Given the description of an element on the screen output the (x, y) to click on. 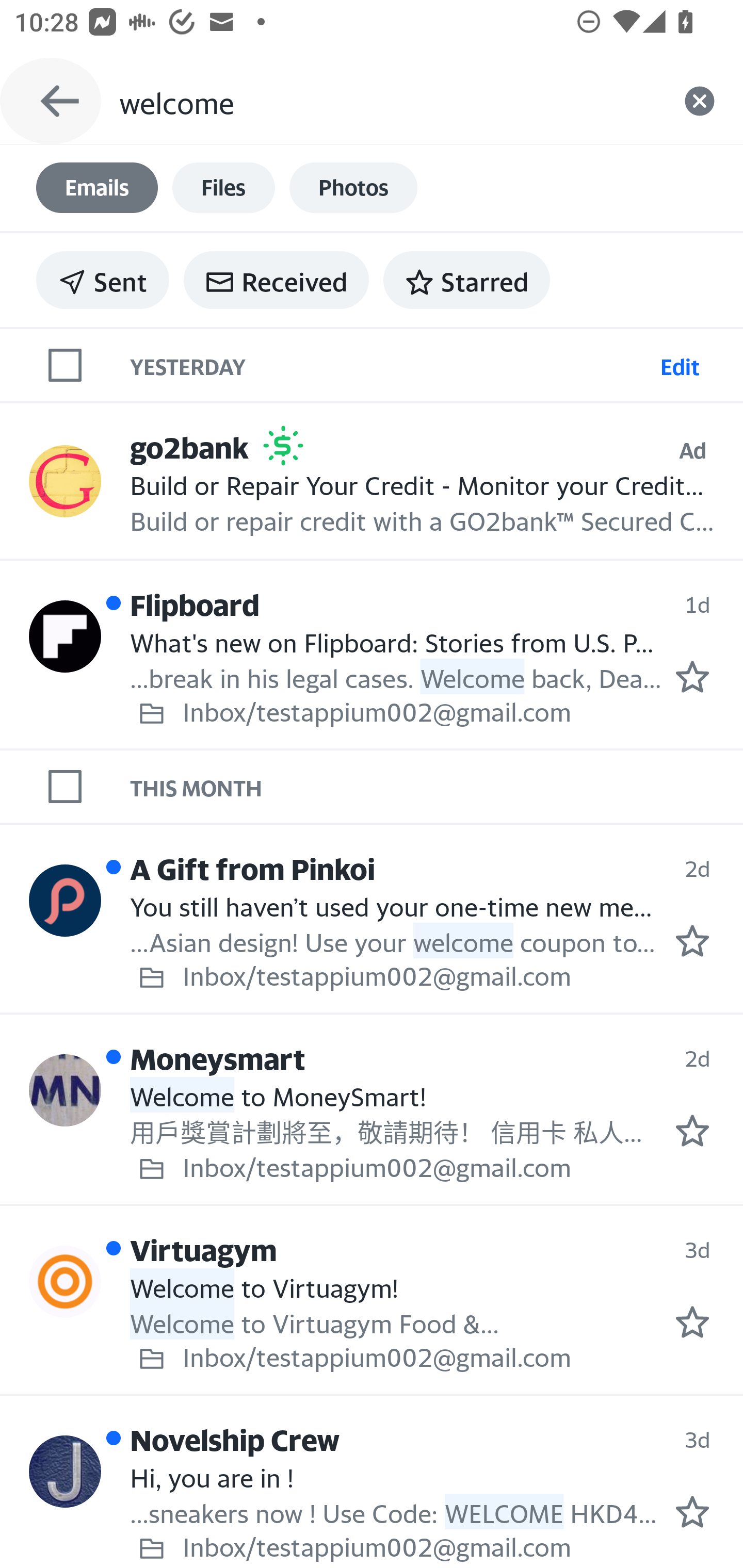
Back (50, 101)
welcome (387, 101)
Clear (699, 101)
Emails (96, 188)
Files (223, 188)
Photos (353, 188)
Sent (102, 279)
Received (276, 279)
Starred (466, 279)
YESTERDAY (391, 364)
Edit Select emails (679, 364)
Sponsored (282, 445)
Ad (692, 449)
Profile
Flipboard (64, 636)
Mark as starred. (692, 676)
THIS MONTH (436, 786)
Profile
A Gift from Pinkoi (64, 899)
Mark as starred. (692, 940)
Profile
Moneysmart (64, 1089)
Mark as starred. (692, 1131)
Profile
Virtuagym (64, 1280)
Mark as starred. (692, 1322)
Profile
Novelship Crew (64, 1471)
Mark as starred. (692, 1512)
